Given the description of an element on the screen output the (x, y) to click on. 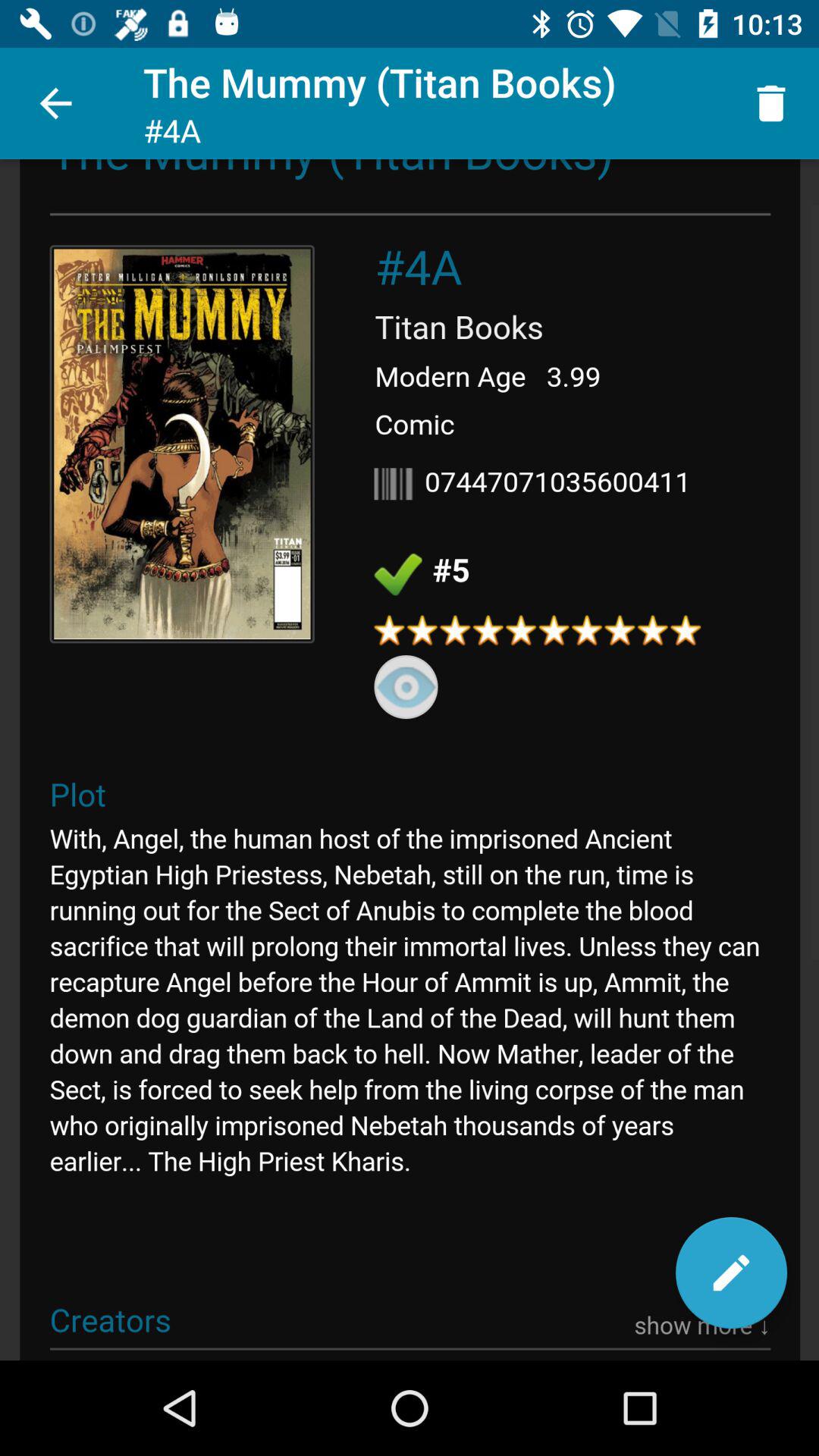
user interface (409, 759)
